Given the description of an element on the screen output the (x, y) to click on. 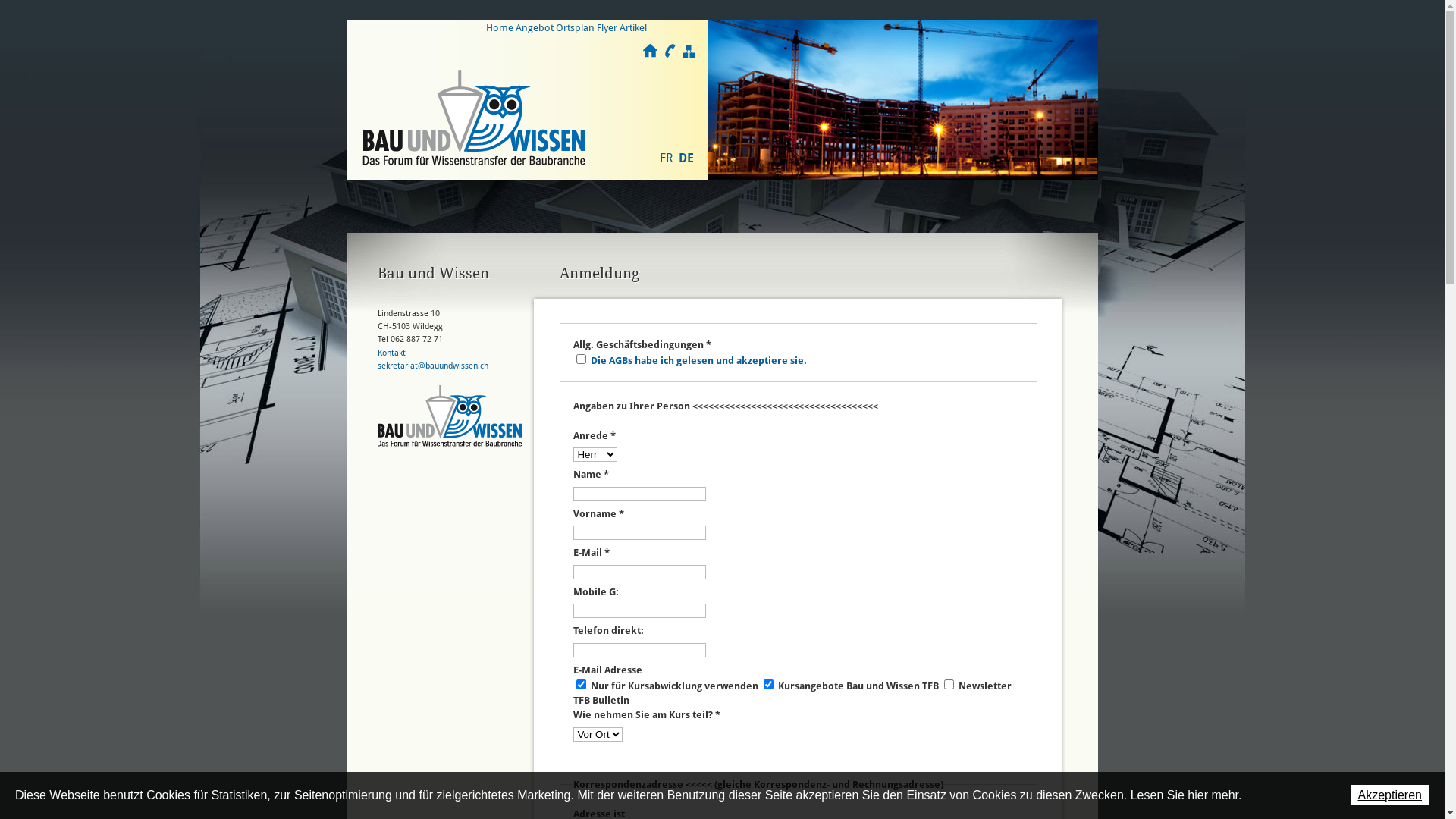
FR Element type: text (665, 157)
KONTAKT Element type: text (668, 50)
Bau und Wissen Element type: text (473, 117)
Die AGBs habe ich gelesen und akzeptiere sie. Element type: text (698, 360)
Angebot Element type: text (534, 27)
Ortsplan Element type: text (574, 27)
Home Element type: text (499, 27)
DE Element type: text (685, 157)
Akzeptieren Element type: text (1389, 794)
HOME Element type: text (650, 50)
Flyer Element type: text (606, 27)
Artikel Element type: text (632, 27)
SITEMAP Element type: text (687, 50)
Kontakt Element type: text (391, 352)
sekretariat@bauundwissen.ch Element type: text (432, 365)
